Given the description of an element on the screen output the (x, y) to click on. 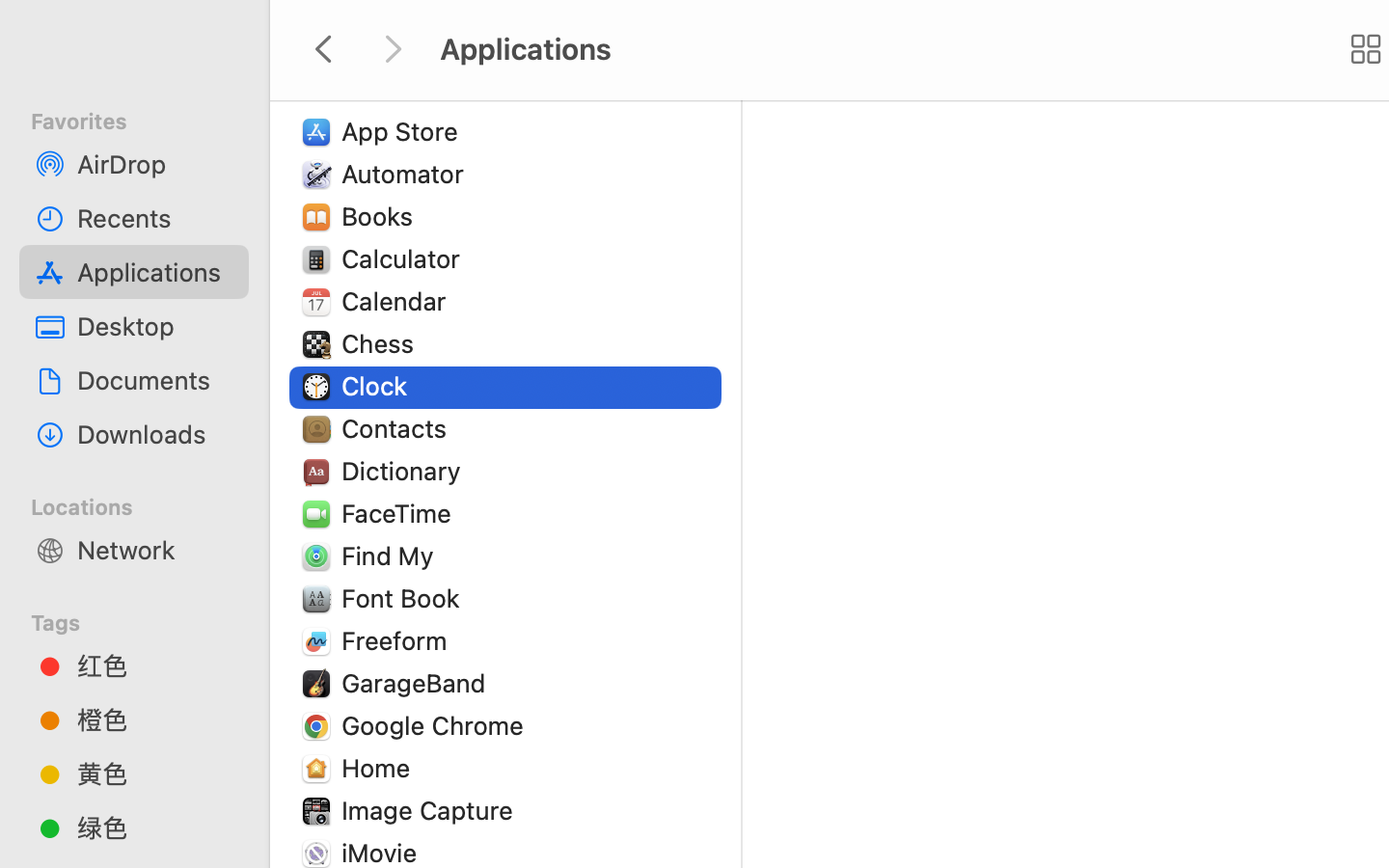
Recents Element type: AXStaticText (155, 217)
FaceTime Element type: AXTextField (400, 512)
